Given the description of an element on the screen output the (x, y) to click on. 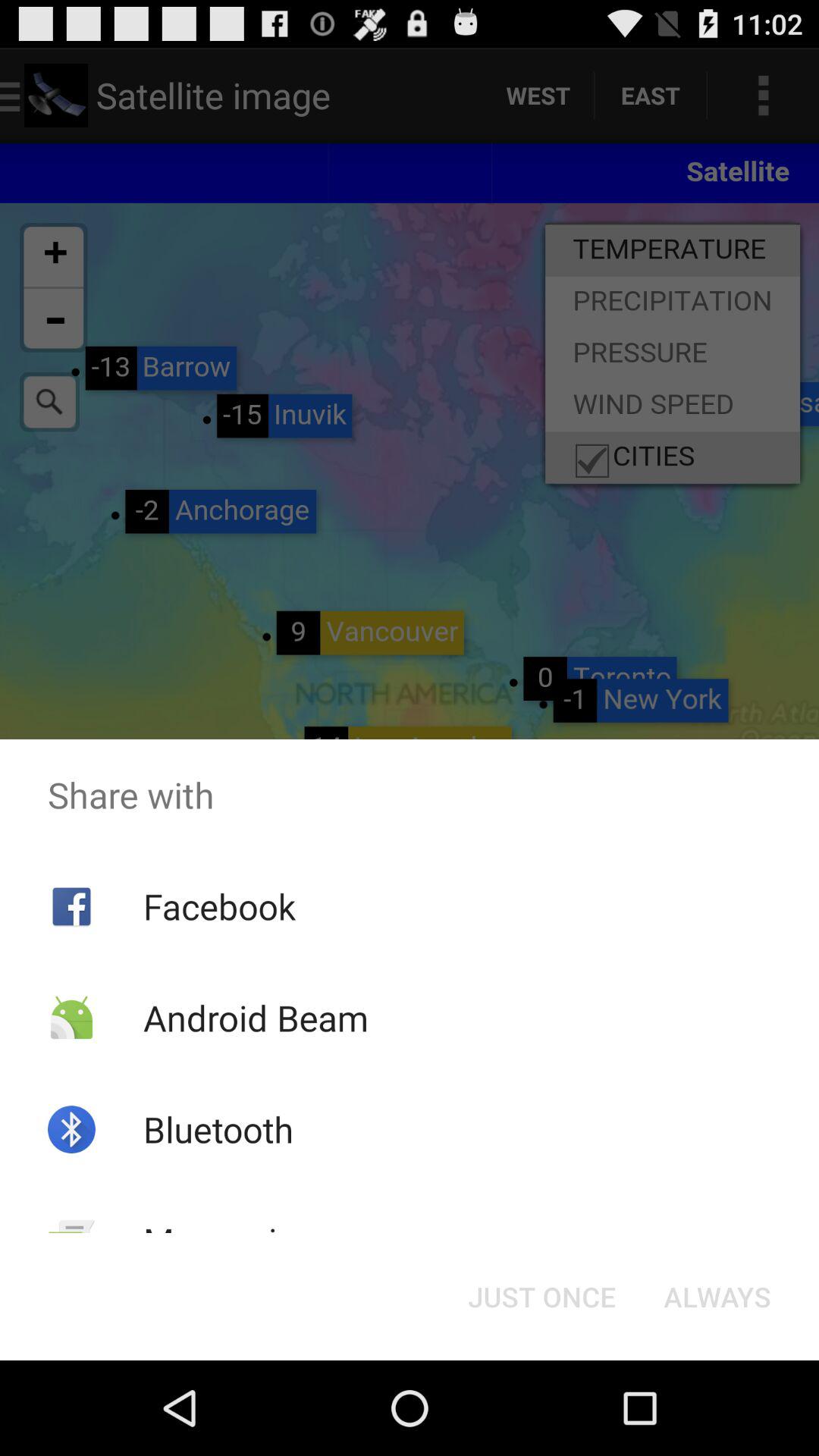
jump until messaging item (229, 1240)
